Given the description of an element on the screen output the (x, y) to click on. 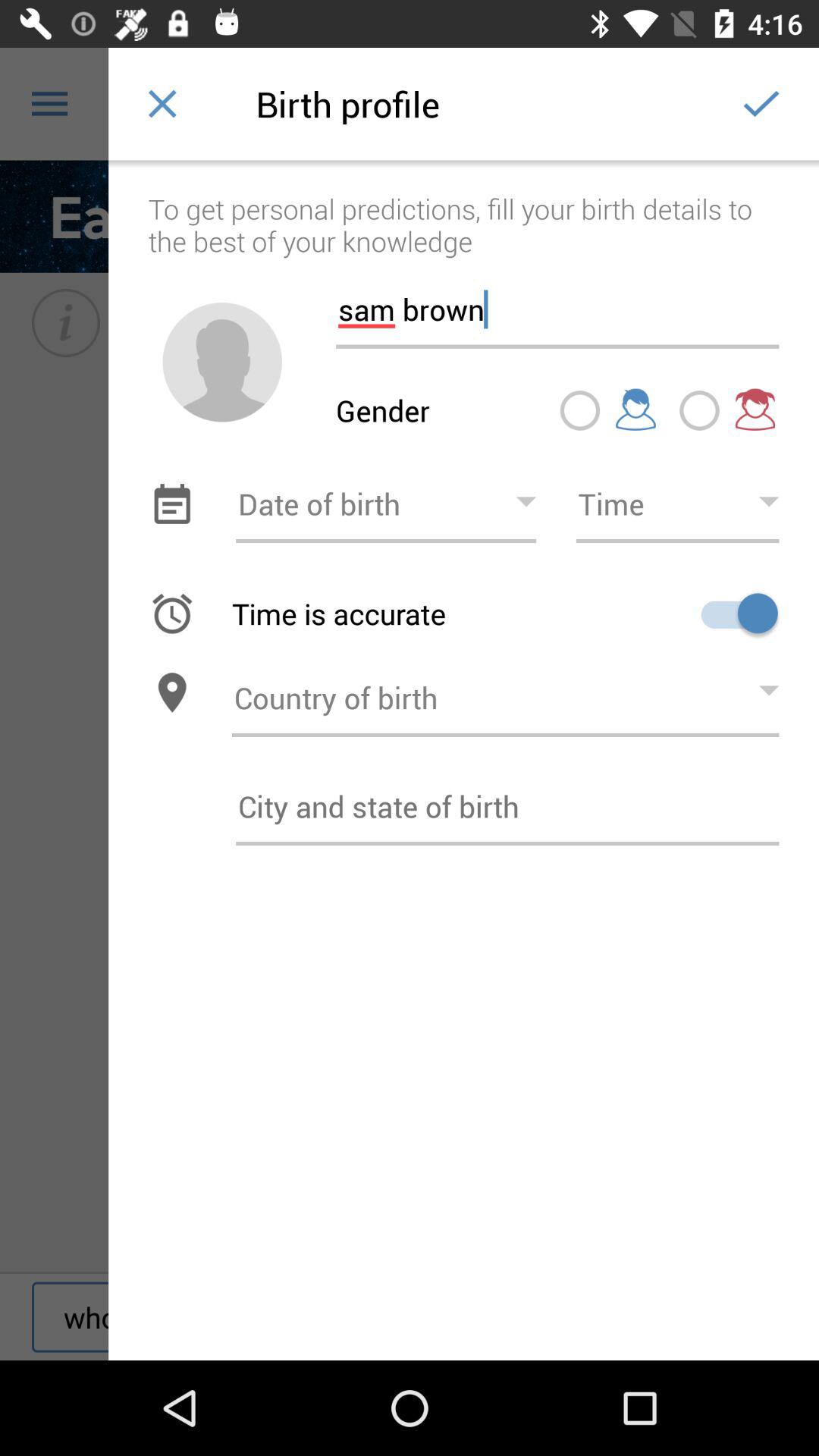
select the icon next to the time is accurate icon (734, 613)
